Given the description of an element on the screen output the (x, y) to click on. 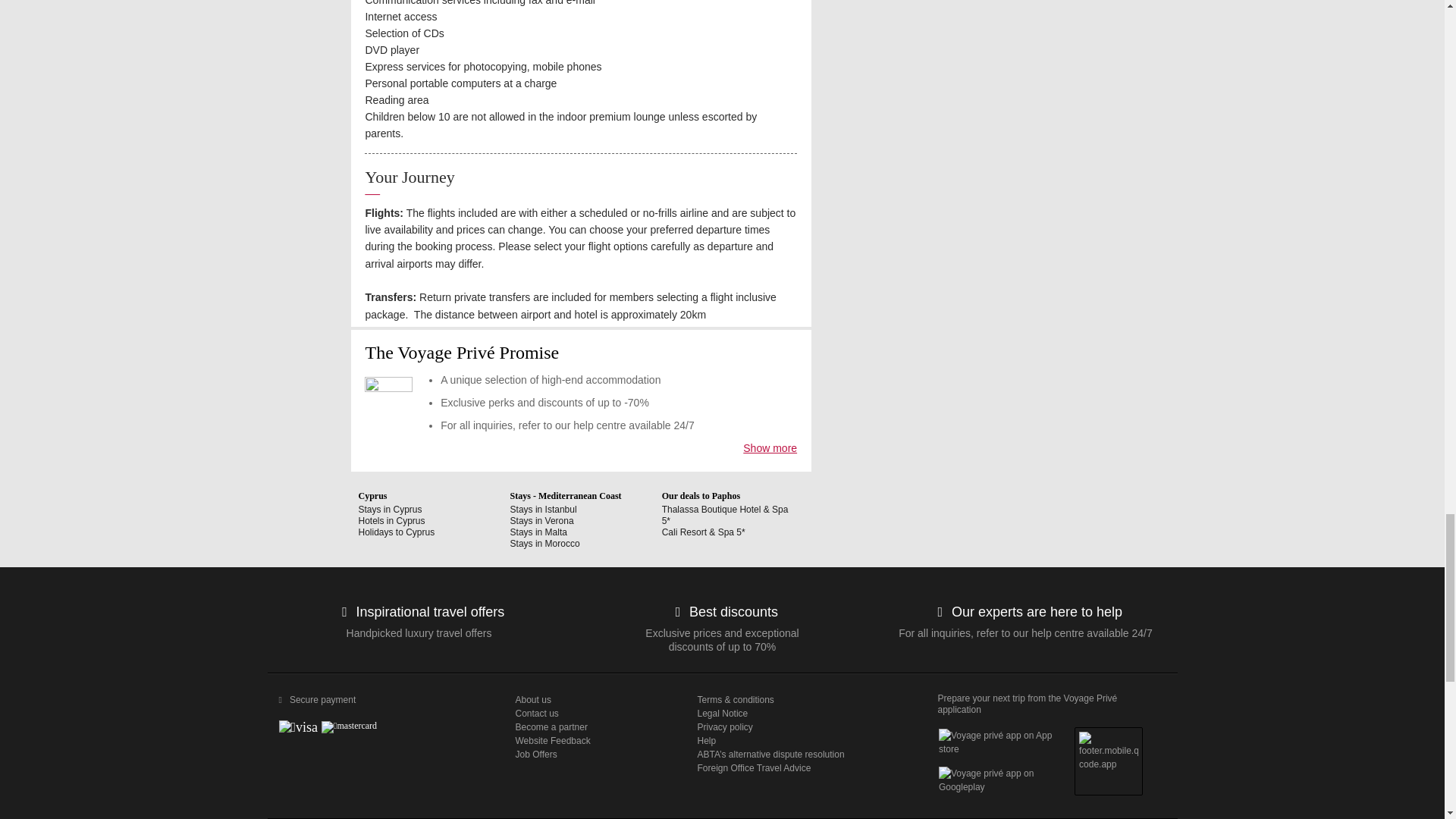
Hotels in Cyprus (391, 520)
Holidays to Cyprus (395, 532)
Become a partner (595, 726)
Stays in Istanbul (543, 509)
Foreign Office Travel Advice (804, 767)
Help (804, 740)
Stays in Verona (542, 520)
Website Feedback (595, 740)
Job Offers (595, 754)
About us (595, 699)
Stays in Morocco (545, 543)
Privacy policy (804, 726)
Stays in Malta (539, 532)
Stays in Cyprus (390, 509)
Contact us (595, 713)
